Given the description of an element on the screen output the (x, y) to click on. 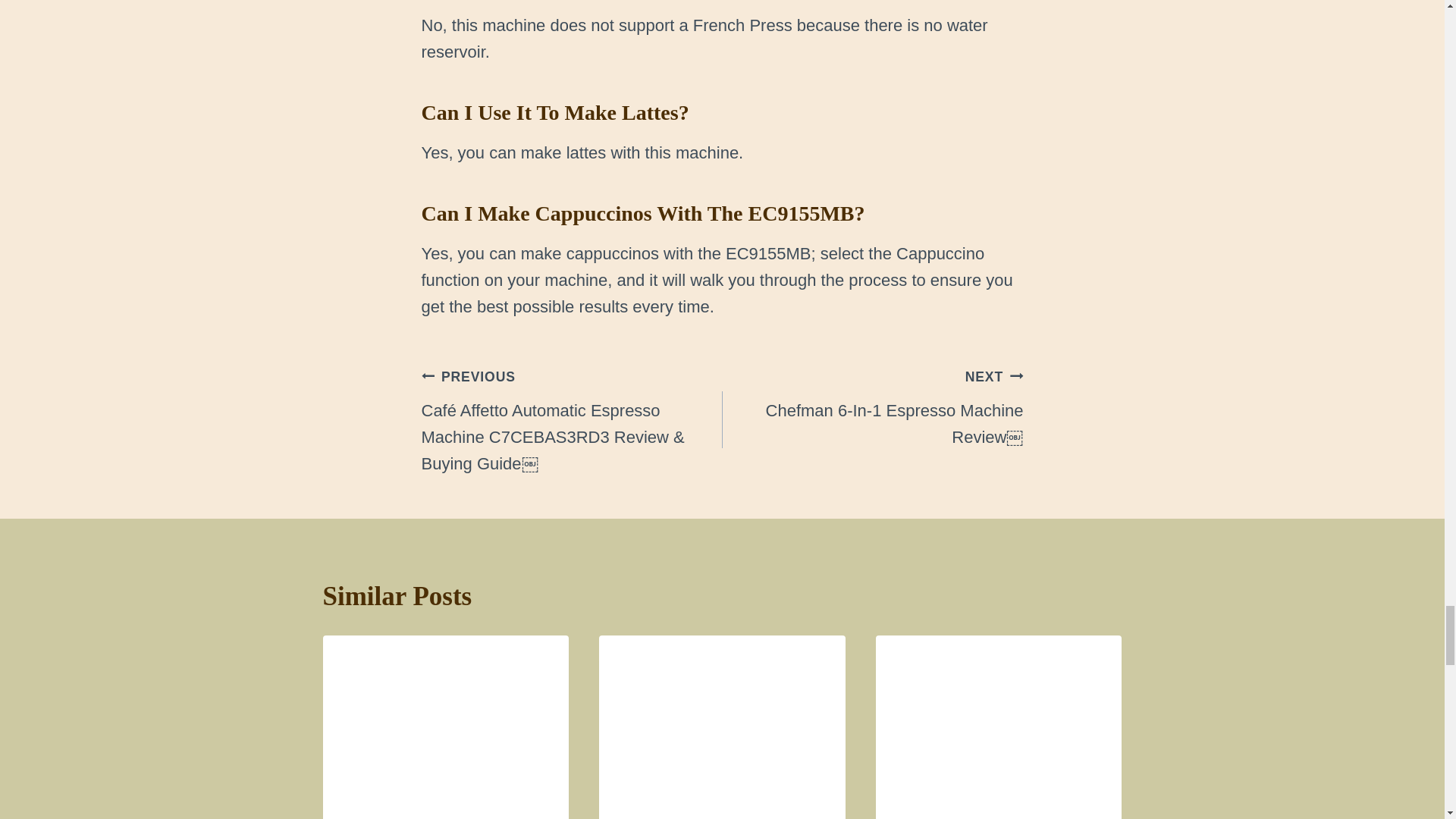
Quad Espresso (446, 717)
Caffeine in Coffee1 (999, 717)
Gevi Espresso Machine Review (721, 717)
